Given the description of an element on the screen output the (x, y) to click on. 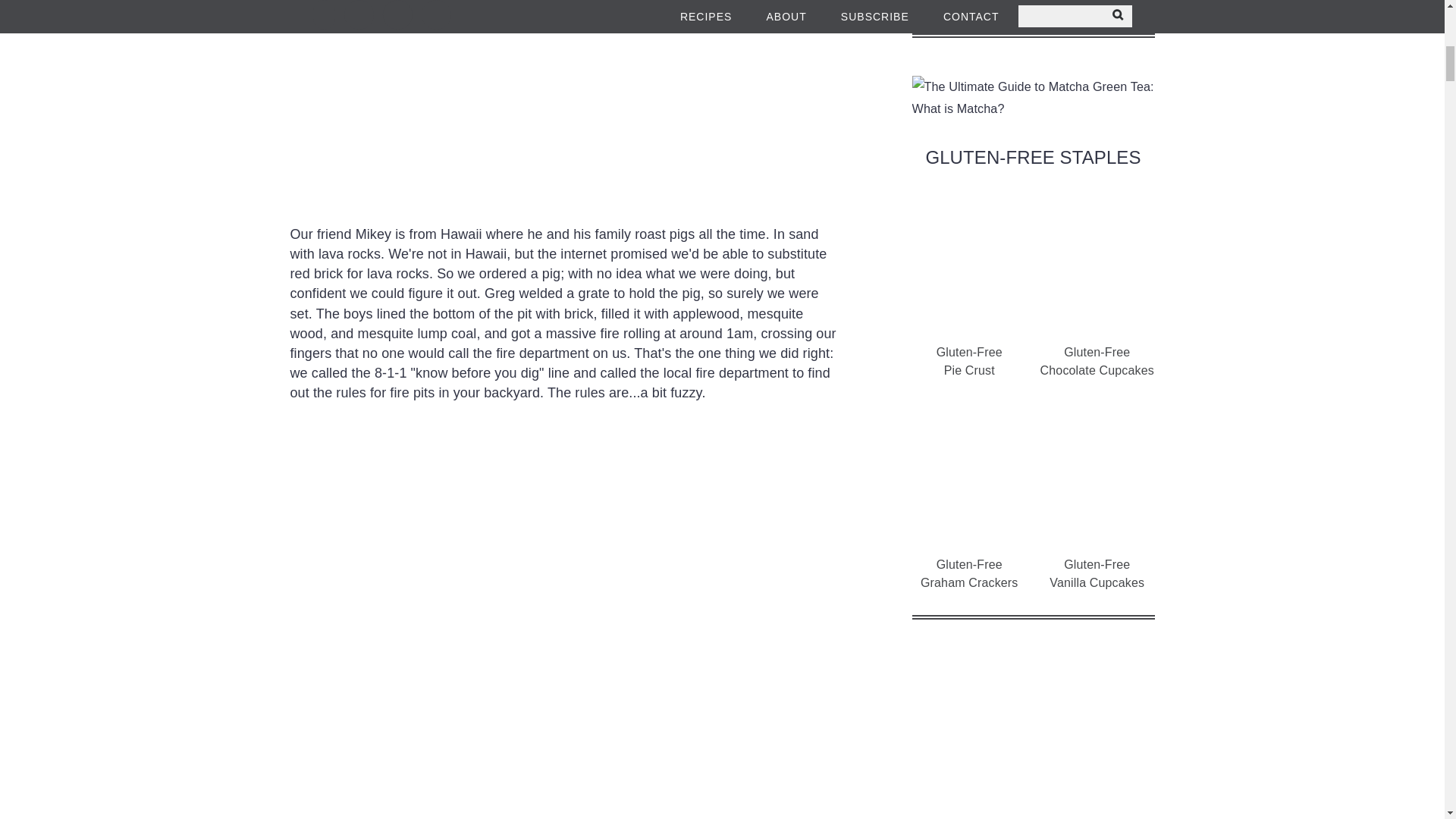
Backyard Pig Roast (402, 591)
Pig Roast Fire Pit (565, 800)
Backyard Pig Roast (565, 102)
